Given the description of an element on the screen output the (x, y) to click on. 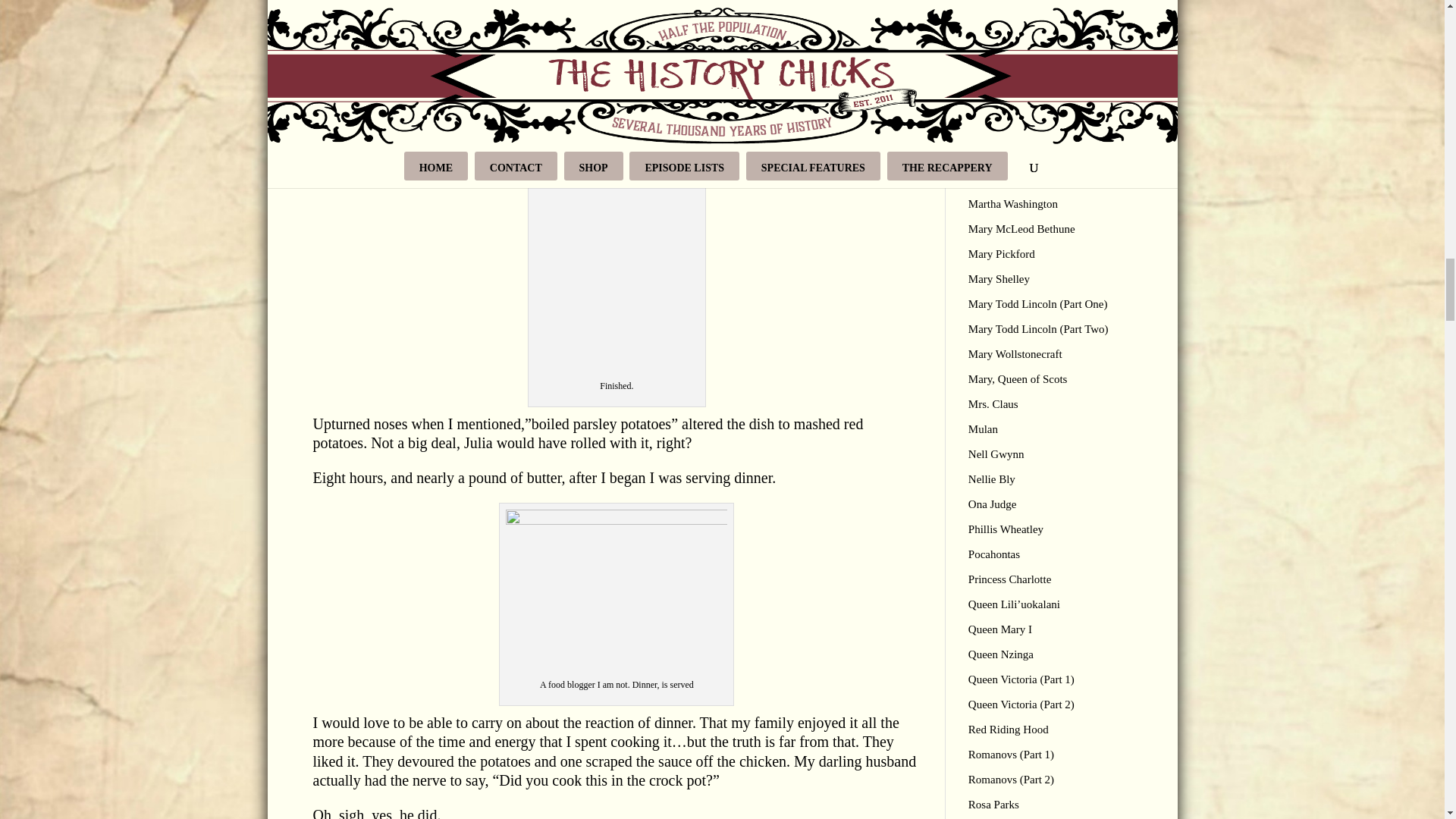
198 (616, 267)
203 (615, 592)
197 (615, 56)
